Given the description of an element on the screen output the (x, y) to click on. 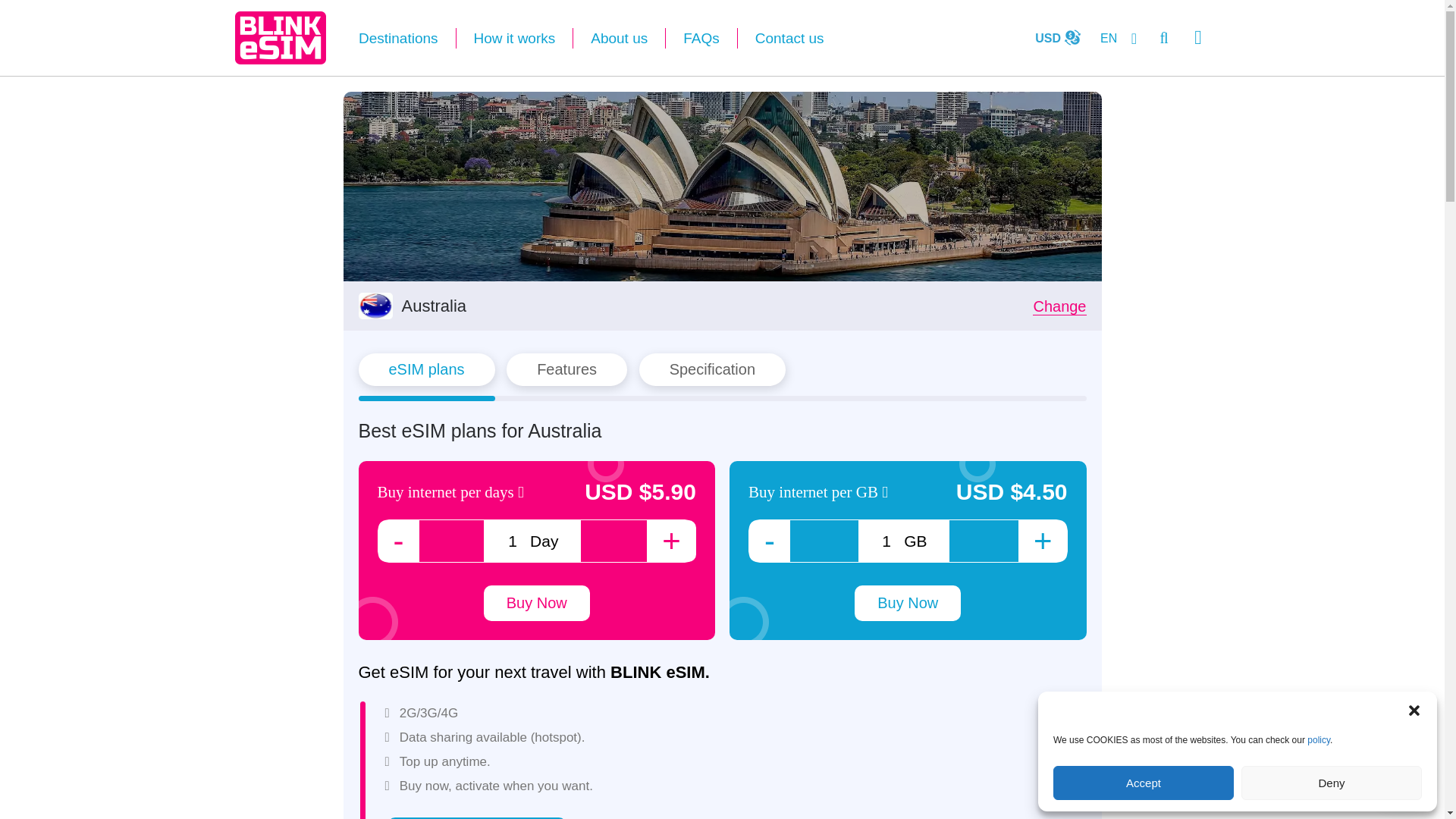
Contact us (781, 37)
Deny (1331, 782)
FAQs (701, 37)
EN (1117, 38)
Search (1163, 37)
eSIM plans (426, 368)
- (398, 540)
Specification (712, 368)
Destinations (398, 37)
Accept (1142, 782)
About us (619, 37)
How it works (515, 37)
Change (1059, 306)
English (1117, 38)
Features (566, 368)
